Given the description of an element on the screen output the (x, y) to click on. 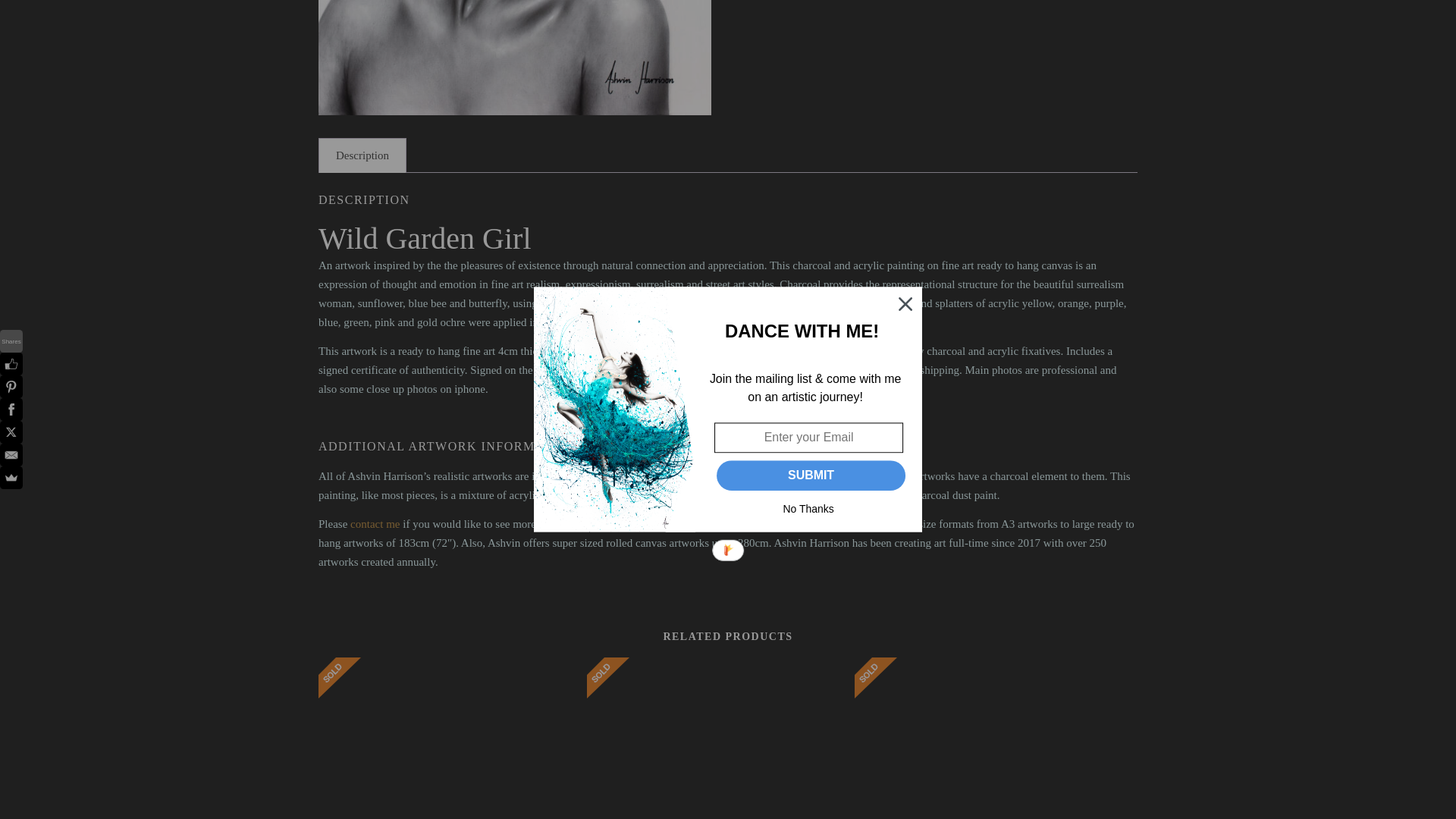
Ashvin Harrison Art - Wild Garden Girl1 (514, 57)
